Given the description of an element on the screen output the (x, y) to click on. 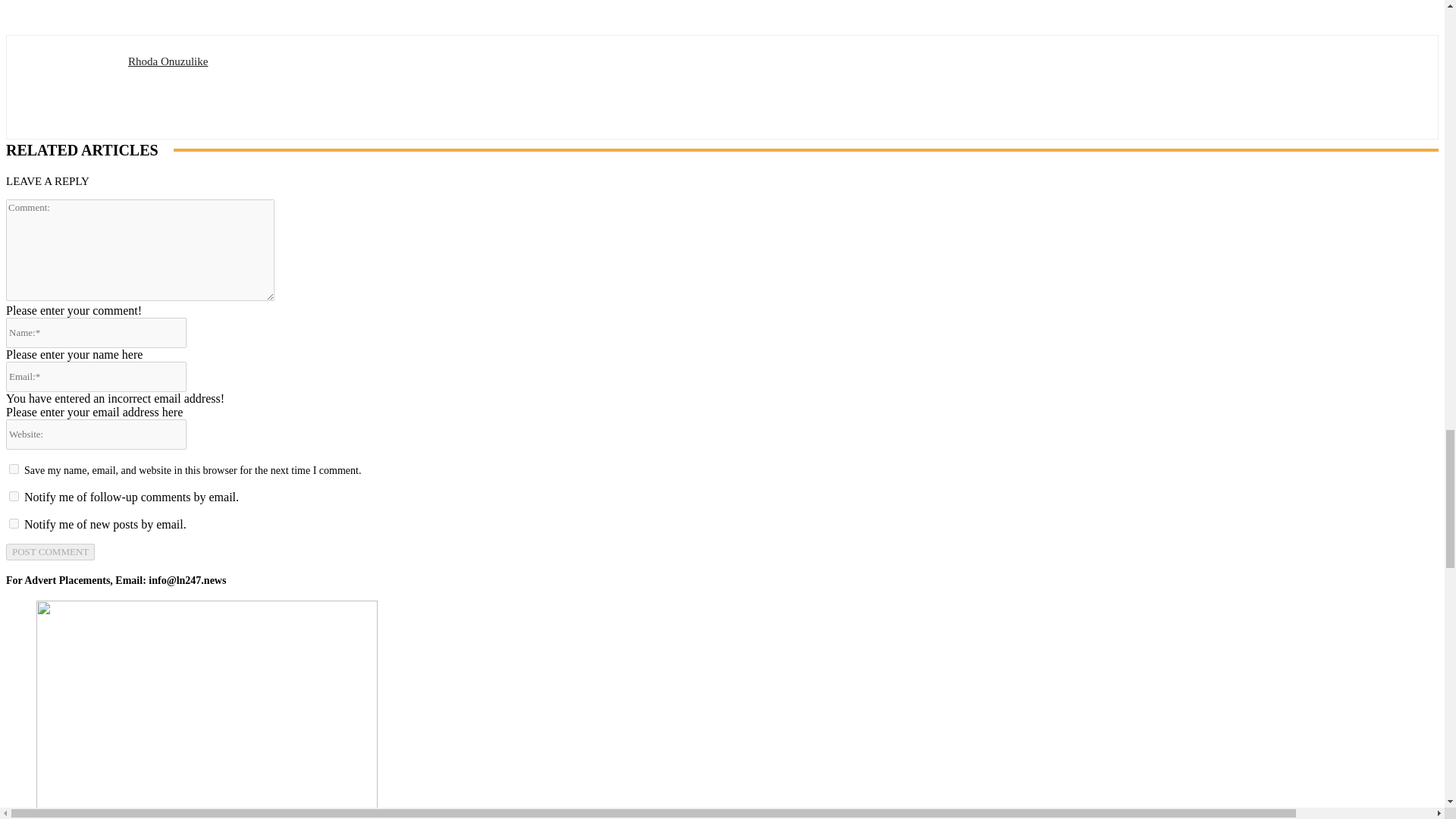
subscribe (13, 523)
yes (13, 469)
Post Comment (49, 551)
subscribe (13, 496)
